Given the description of an element on the screen output the (x, y) to click on. 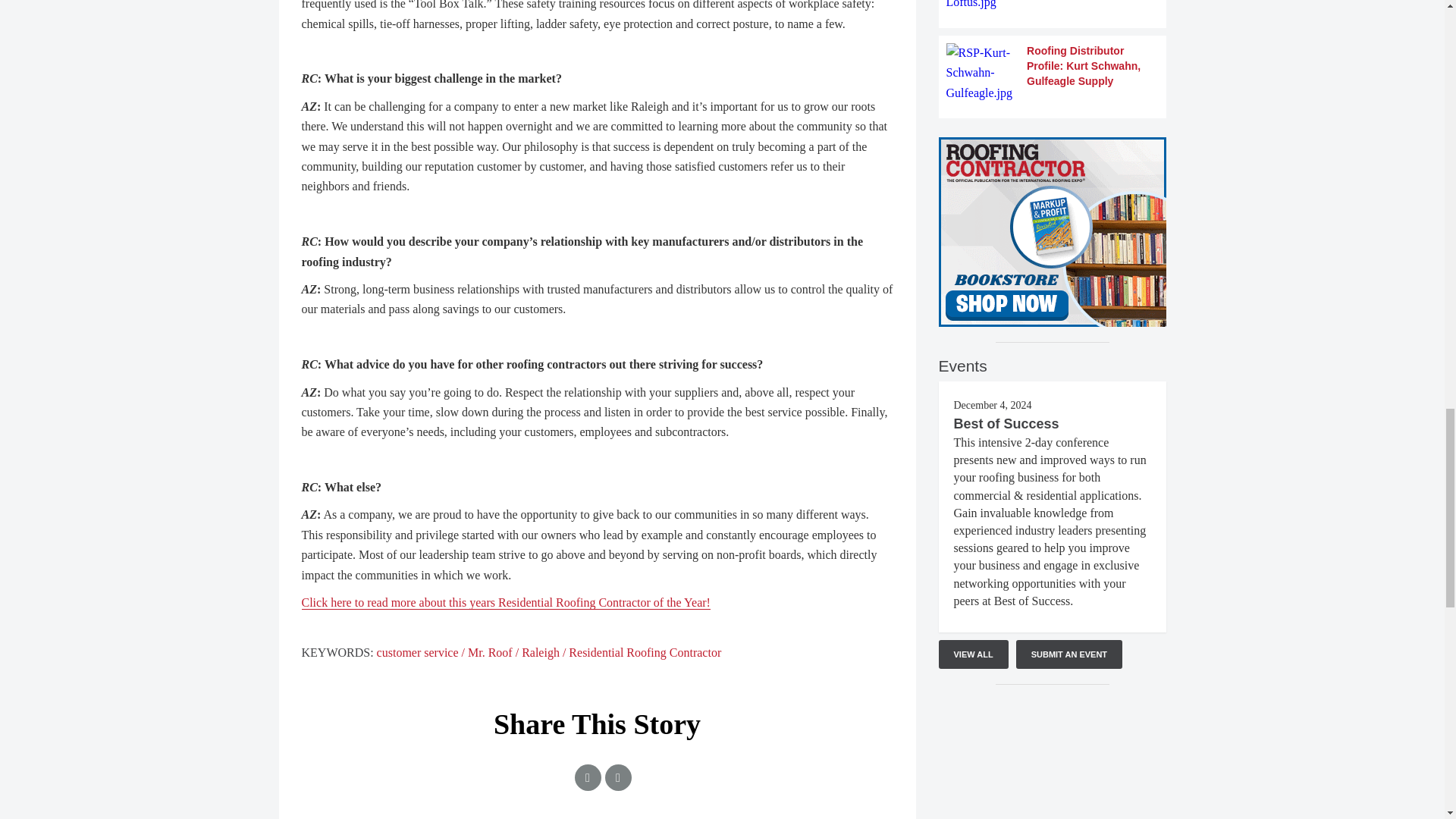
Roofing Distributor Profile: Kurt Schwahn, Gulfeagle Supply (1052, 73)
Best of Success (1006, 423)
